Given the description of an element on the screen output the (x, y) to click on. 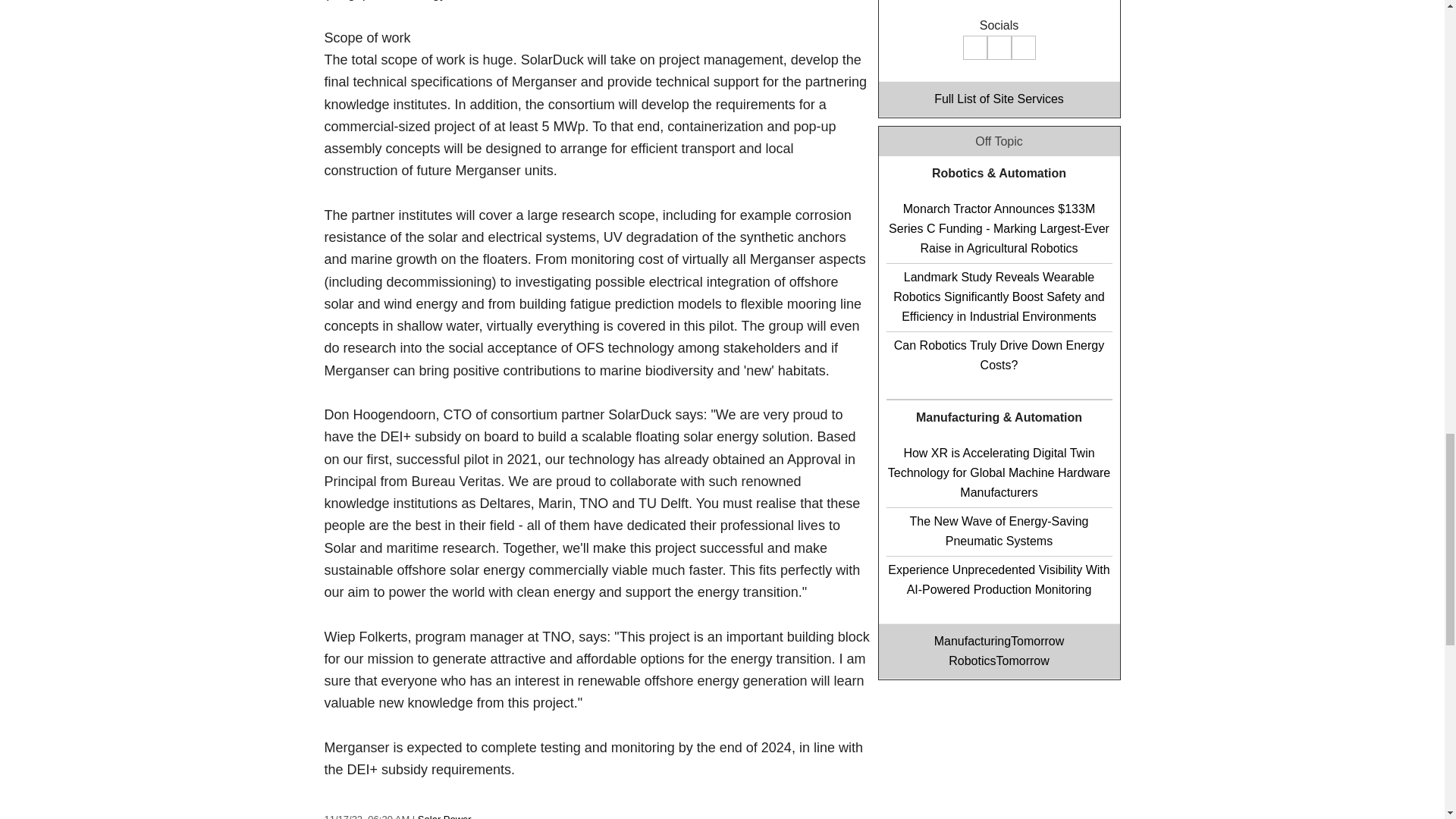
Solar Power (444, 816)
